Given the description of an element on the screen output the (x, y) to click on. 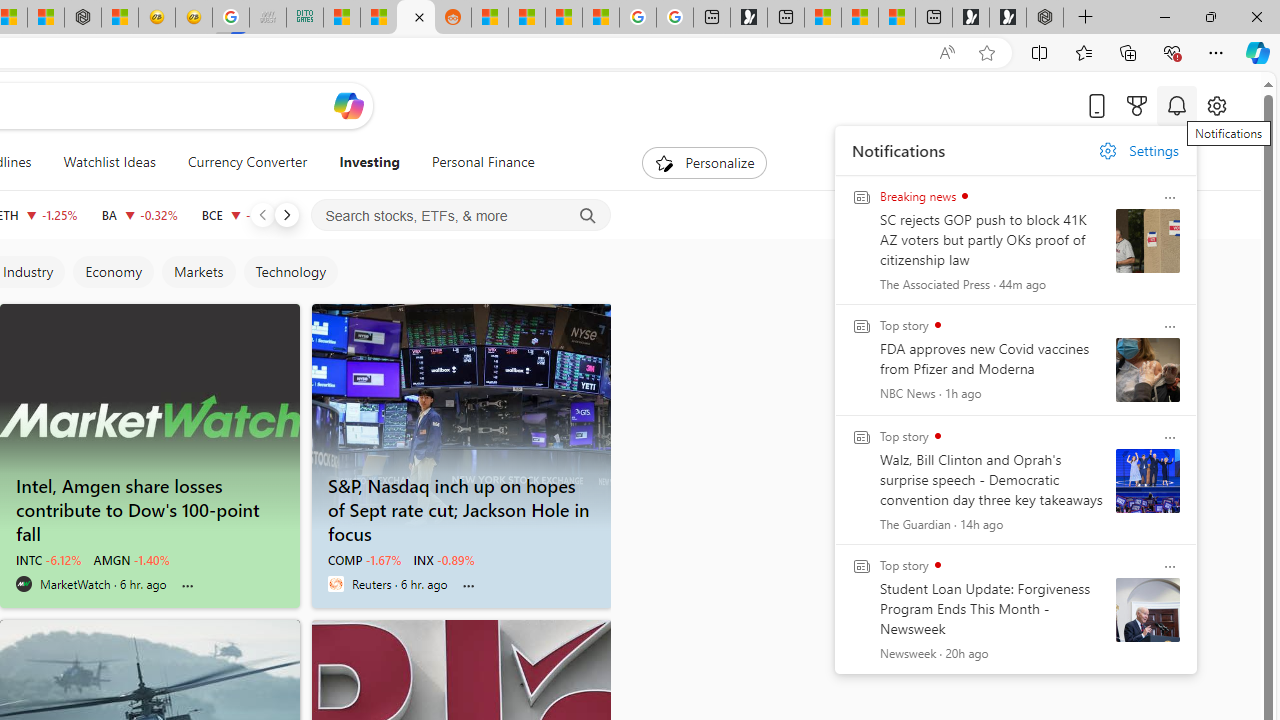
Personalize (703, 162)
Card Action (1169, 566)
COMP -1.67% (363, 560)
Currency Converter (247, 162)
Watchlist Ideas (109, 162)
Search stocks, ETFs, & more (461, 215)
INX -0.89% (443, 560)
Play Free Online Games | Games from Microsoft Start (1007, 17)
